Given the description of an element on the screen output the (x, y) to click on. 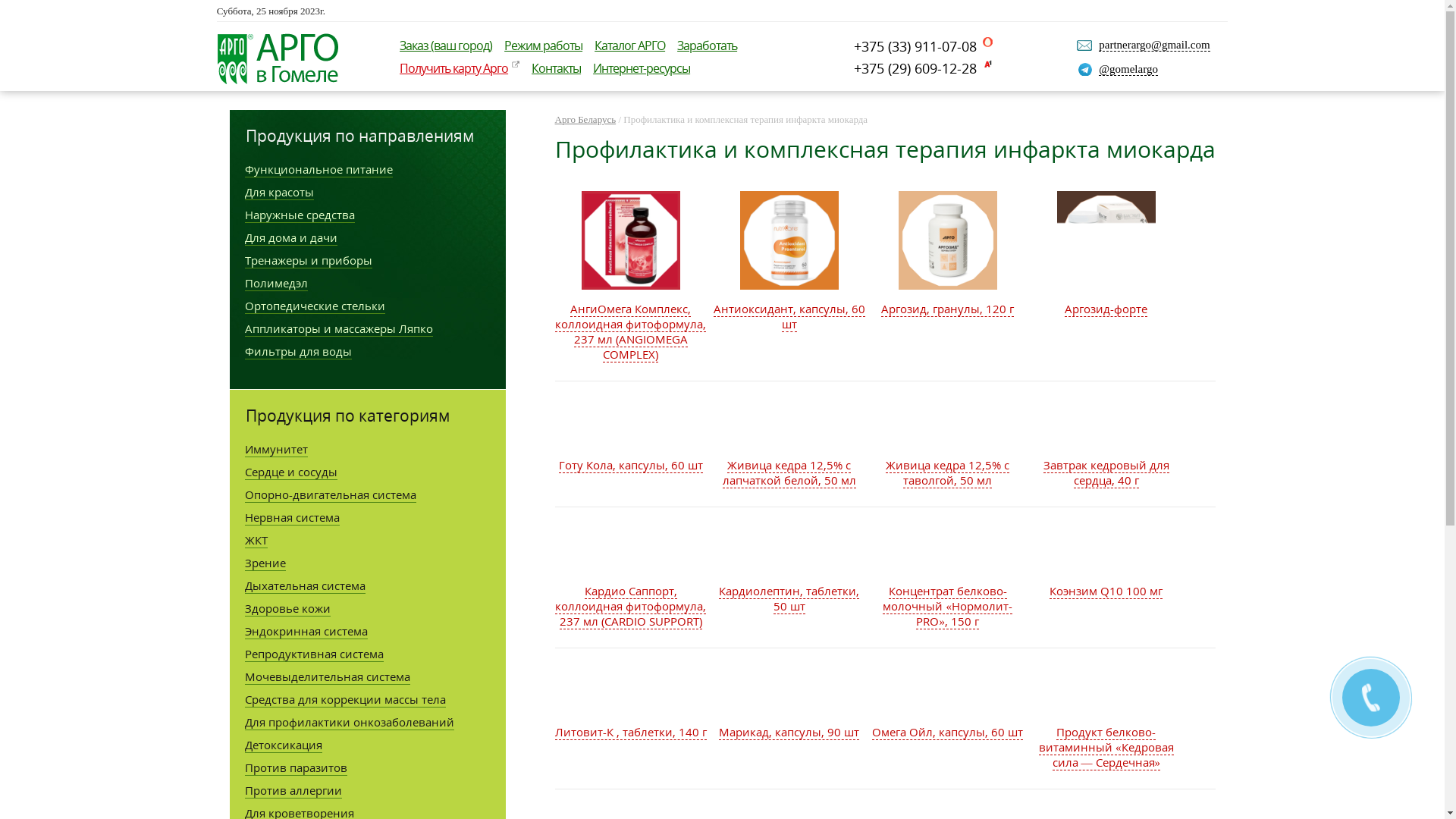
@gomelargo Element type: text (1127, 68)
+375 (29) 609-12-28 Element type: text (922, 68)
+375 (33) 911-07-08 Element type: text (922, 46)
partnerargo@gmail.com Element type: text (1153, 44)
